Given the description of an element on the screen output the (x, y) to click on. 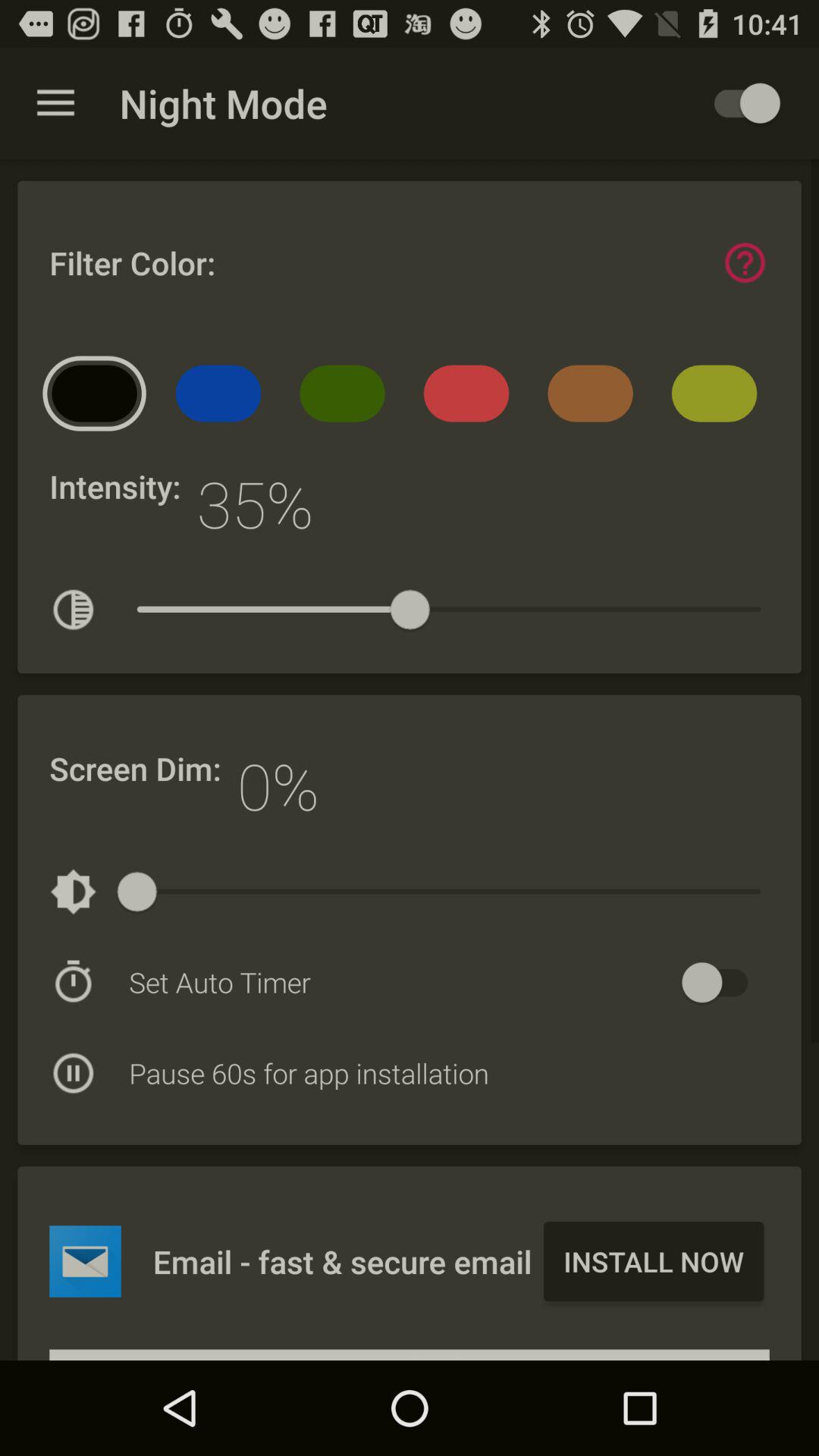
go to advertisement website (85, 1261)
